Given the description of an element on the screen output the (x, y) to click on. 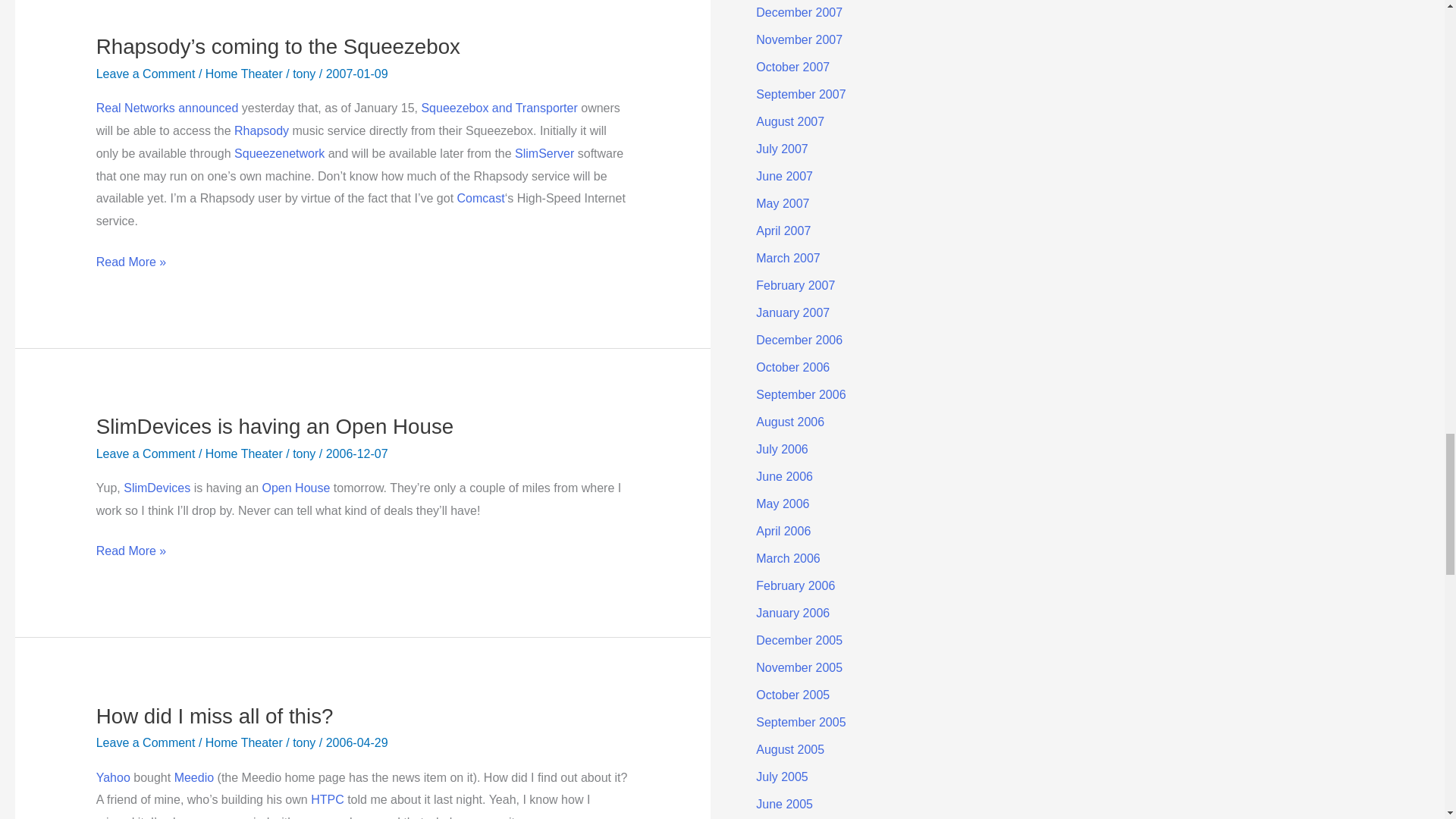
View all posts by tony (305, 453)
View all posts by tony (305, 73)
View all posts by tony (305, 742)
